Given the description of an element on the screen output the (x, y) to click on. 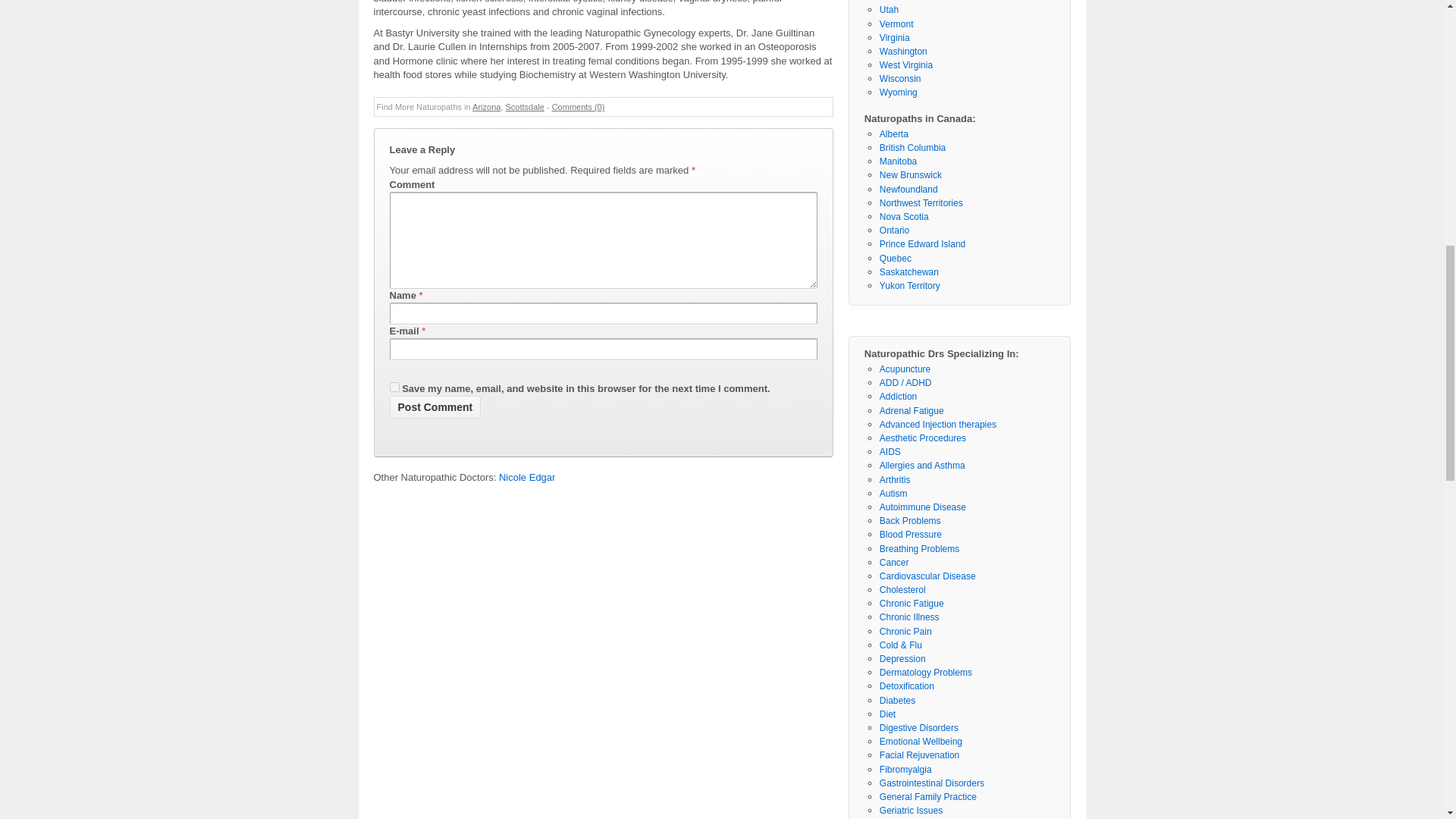
Post Comment (435, 406)
yes (394, 387)
Arizona (485, 106)
Post Comment (435, 406)
Scottsdale (524, 106)
Nicole Edgar (526, 477)
